Given the description of an element on the screen output the (x, y) to click on. 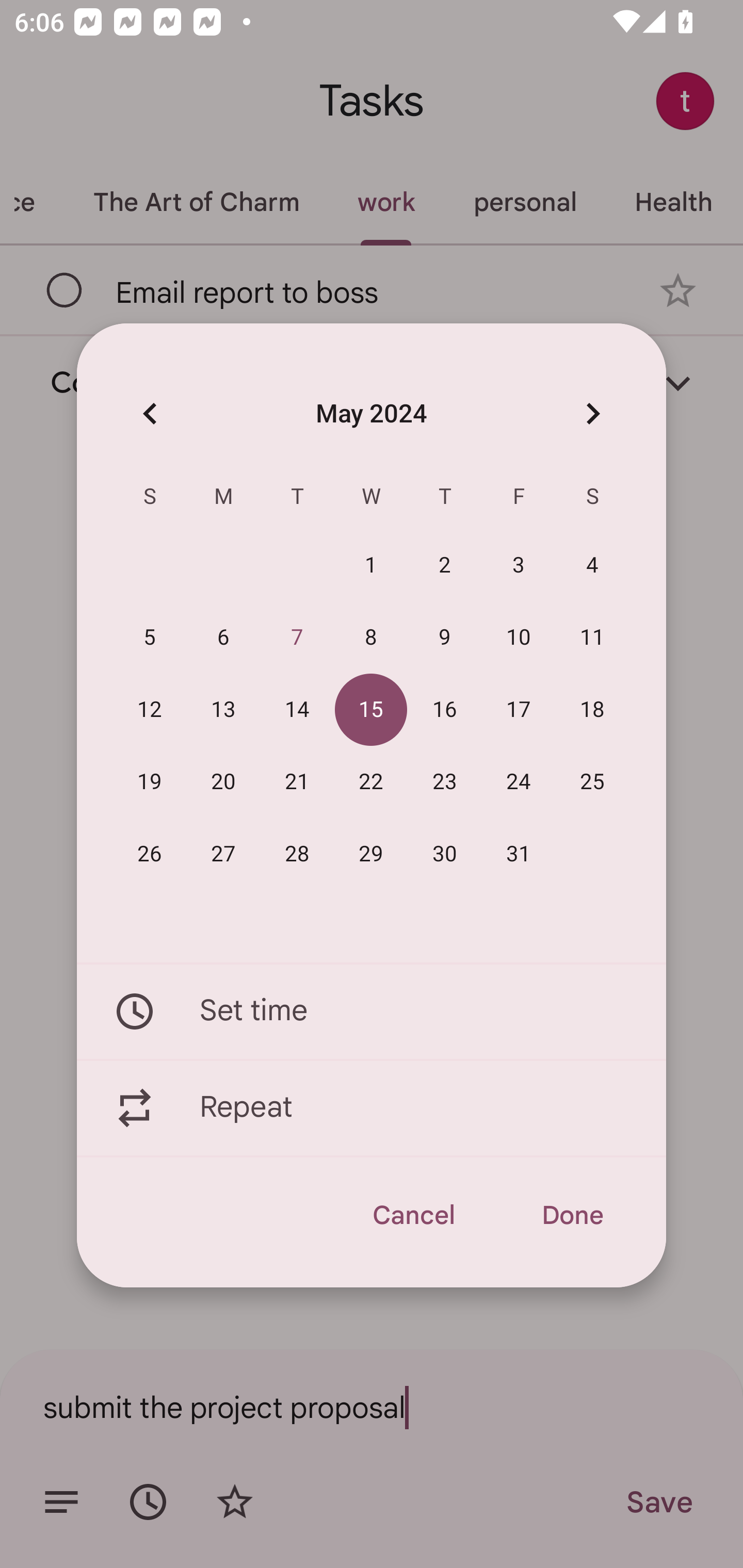
Previous month (149, 413)
Next month (592, 413)
1 01 May 2024 (370, 565)
2 02 May 2024 (444, 565)
3 03 May 2024 (518, 565)
4 04 May 2024 (592, 565)
5 05 May 2024 (149, 638)
6 06 May 2024 (223, 638)
7 07 May 2024 (297, 638)
8 08 May 2024 (370, 638)
9 09 May 2024 (444, 638)
10 10 May 2024 (518, 638)
11 11 May 2024 (592, 638)
12 12 May 2024 (149, 710)
13 13 May 2024 (223, 710)
14 14 May 2024 (297, 710)
15 15 May 2024 (370, 710)
16 16 May 2024 (444, 710)
17 17 May 2024 (518, 710)
18 18 May 2024 (592, 710)
19 19 May 2024 (149, 782)
20 20 May 2024 (223, 782)
21 21 May 2024 (297, 782)
22 22 May 2024 (370, 782)
23 23 May 2024 (444, 782)
24 24 May 2024 (518, 782)
25 25 May 2024 (592, 782)
26 26 May 2024 (149, 854)
27 27 May 2024 (223, 854)
28 28 May 2024 (297, 854)
29 29 May 2024 (370, 854)
30 30 May 2024 (444, 854)
31 31 May 2024 (518, 854)
Set time (371, 1011)
Repeat (371, 1108)
Cancel (412, 1215)
Done (571, 1215)
